Given the description of an element on the screen output the (x, y) to click on. 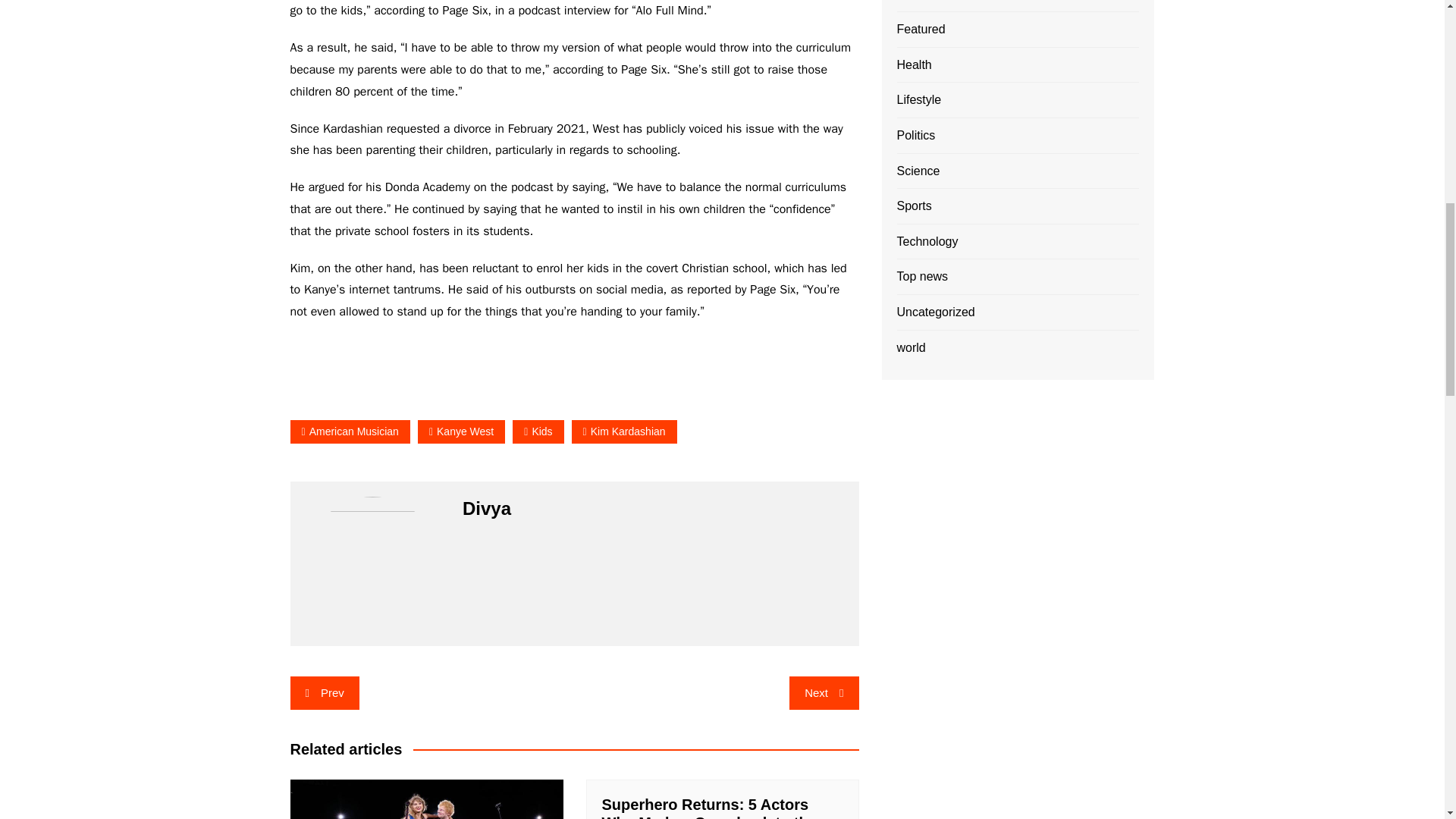
American Musician (349, 431)
Kanye West (461, 431)
Kids (537, 431)
Next (824, 693)
Prev (323, 693)
Kim Kardashian (624, 431)
